Given the description of an element on the screen output the (x, y) to click on. 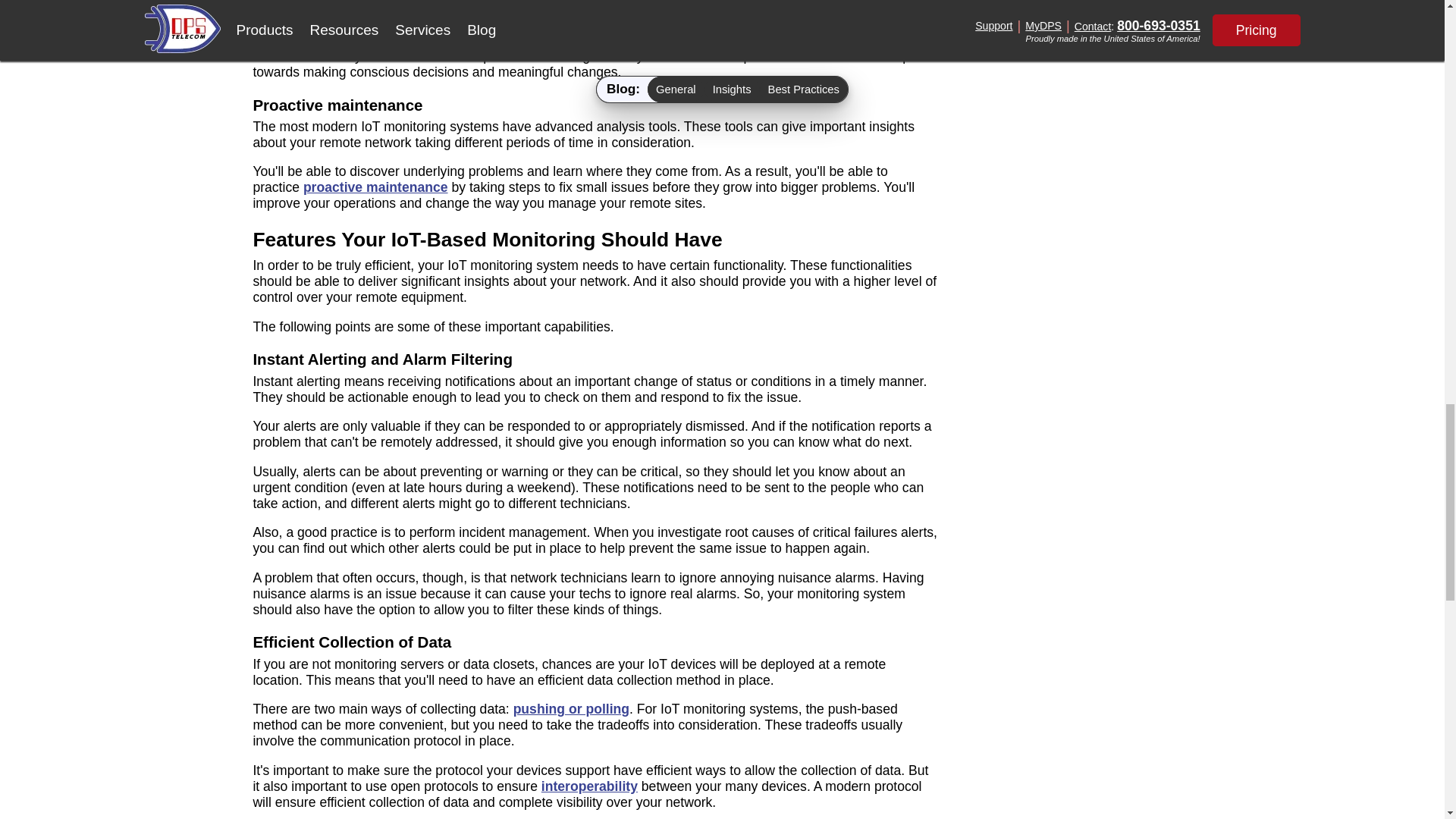
proactive maintenance (375, 186)
interoperability (589, 785)
pushing or polling (570, 708)
